Given the description of an element on the screen output the (x, y) to click on. 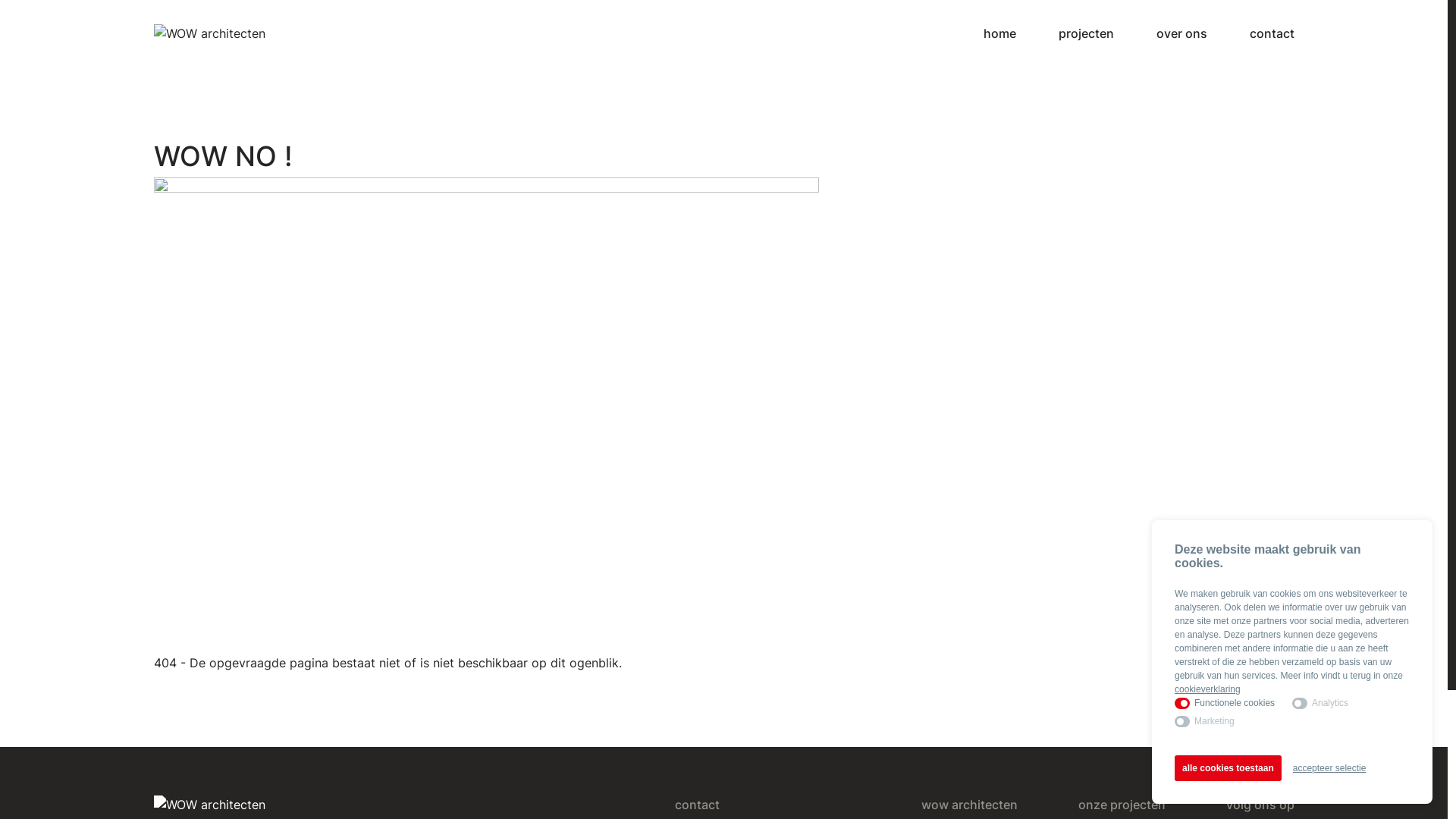
home Element type: text (998, 33)
over ons Element type: text (1180, 33)
accepteer selectie Element type: text (1329, 768)
cookieverklaring Element type: text (1207, 689)
contact Element type: text (1271, 33)
alle cookies toestaan Element type: text (1227, 768)
projecten Element type: text (1086, 33)
